Given the description of an element on the screen output the (x, y) to click on. 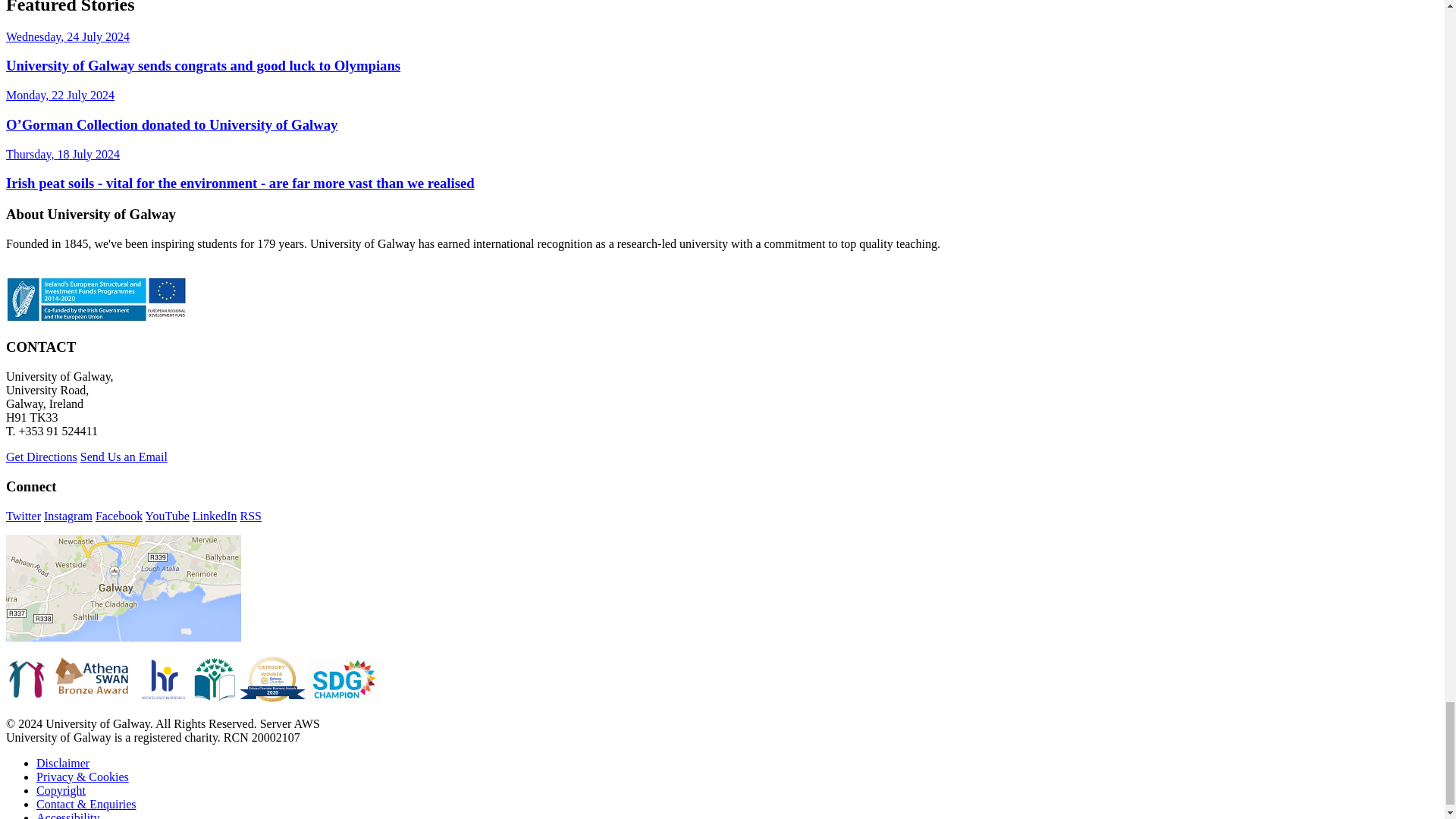
Green Campus (213, 678)
HR Excellence in Research (162, 678)
Galway Chamber Sustainability Award (272, 678)
Sustainable Development Goals Champion 2023-2024 (343, 678)
Athena Swan Bronze Award (91, 678)
University of Sanctuary (26, 678)
